Given the description of an element on the screen output the (x, y) to click on. 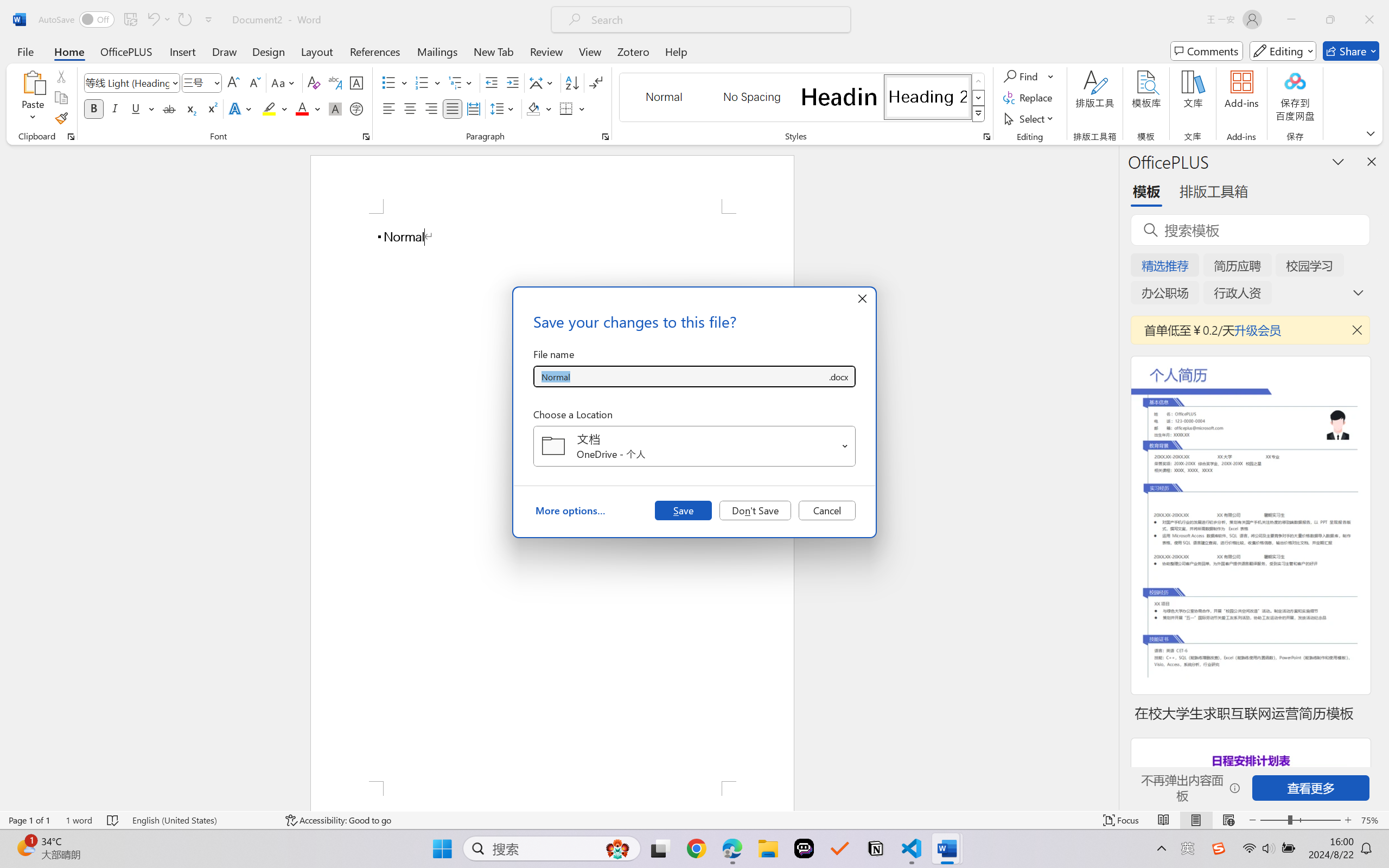
Decrease Indent (491, 82)
Distributed (473, 108)
Design (268, 51)
Character Shading (334, 108)
New Tab (493, 51)
Class: Image (1218, 847)
More Options (1051, 75)
Microsoft search (715, 19)
Restore Down (1330, 19)
Page Number Page 1 of 1 (29, 819)
Replace... (1029, 97)
